Given the description of an element on the screen output the (x, y) to click on. 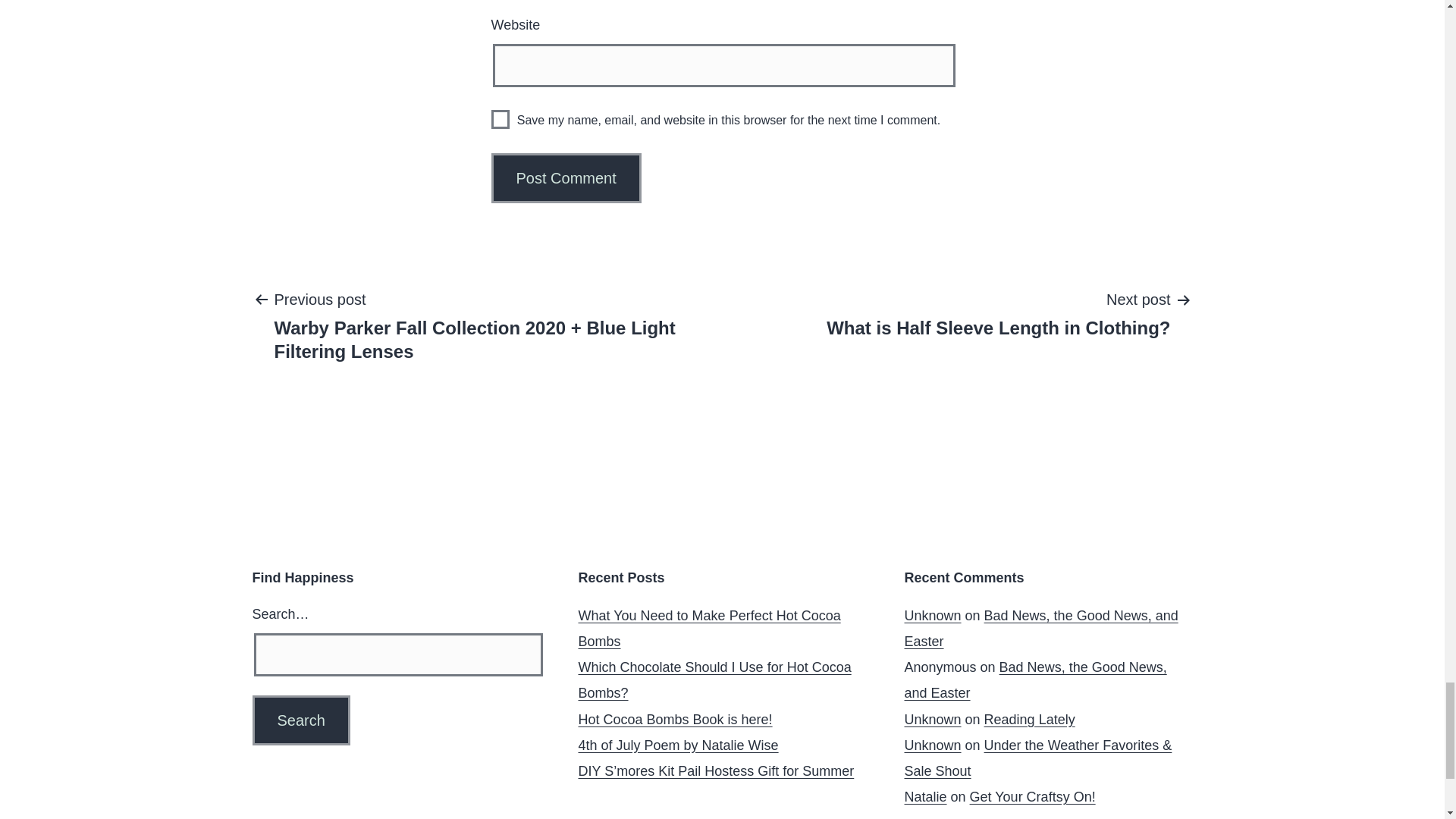
Hot Cocoa Bombs Book is here! (674, 719)
4th of July Poem by Natalie Wise (677, 744)
Unknown (932, 615)
Post Comment (567, 178)
Search (300, 720)
Search (300, 720)
Post Comment (567, 178)
yes (500, 118)
Which Chocolate Should I Use for Hot Cocoa Bombs? (998, 312)
